Given the description of an element on the screen output the (x, y) to click on. 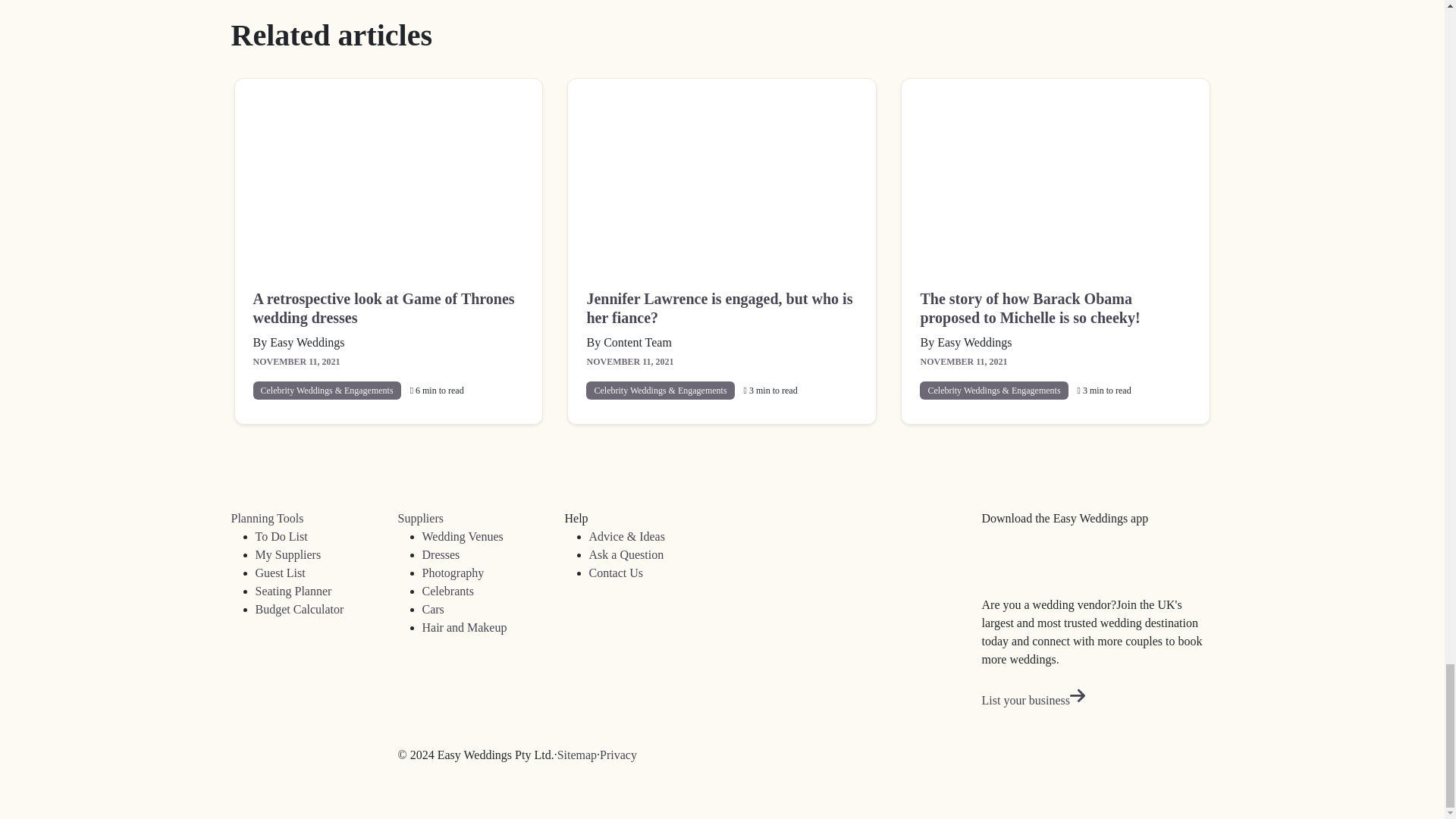
A retrospective look at Game of Thrones wedding dresses (388, 308)
A retrospective look at Game of Thrones wedding dresses (388, 308)
Jennifer Lawrence is engaged, but who is her fiance? (721, 174)
A retrospective look at Game of Thrones wedding dresses (388, 174)
